Given the description of an element on the screen output the (x, y) to click on. 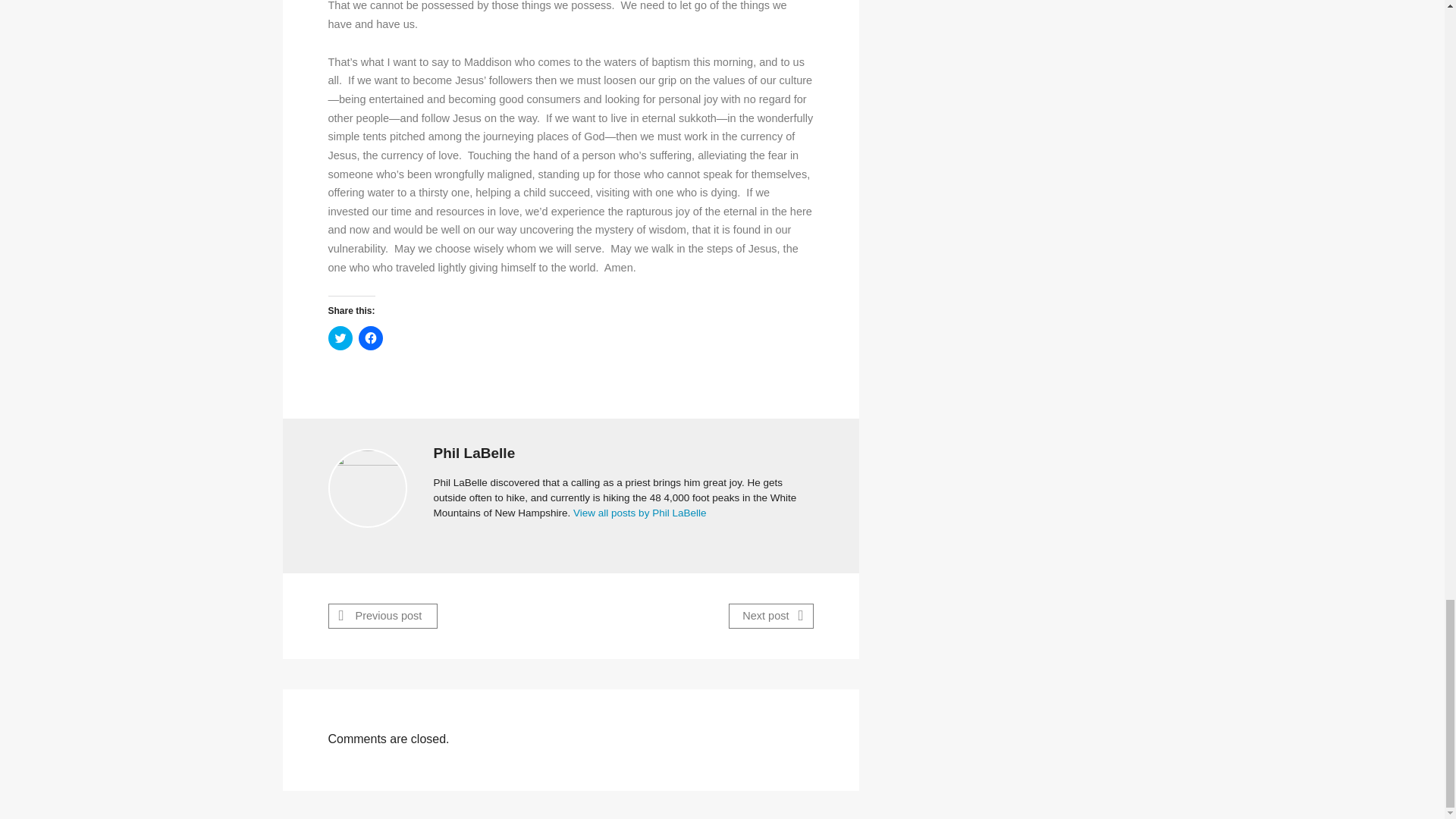
Click to share on Facebook (369, 337)
Next post (770, 615)
View all posts by Phil LaBelle (639, 512)
Click to share on Twitter (339, 337)
Previous post (382, 615)
